Given the description of an element on the screen output the (x, y) to click on. 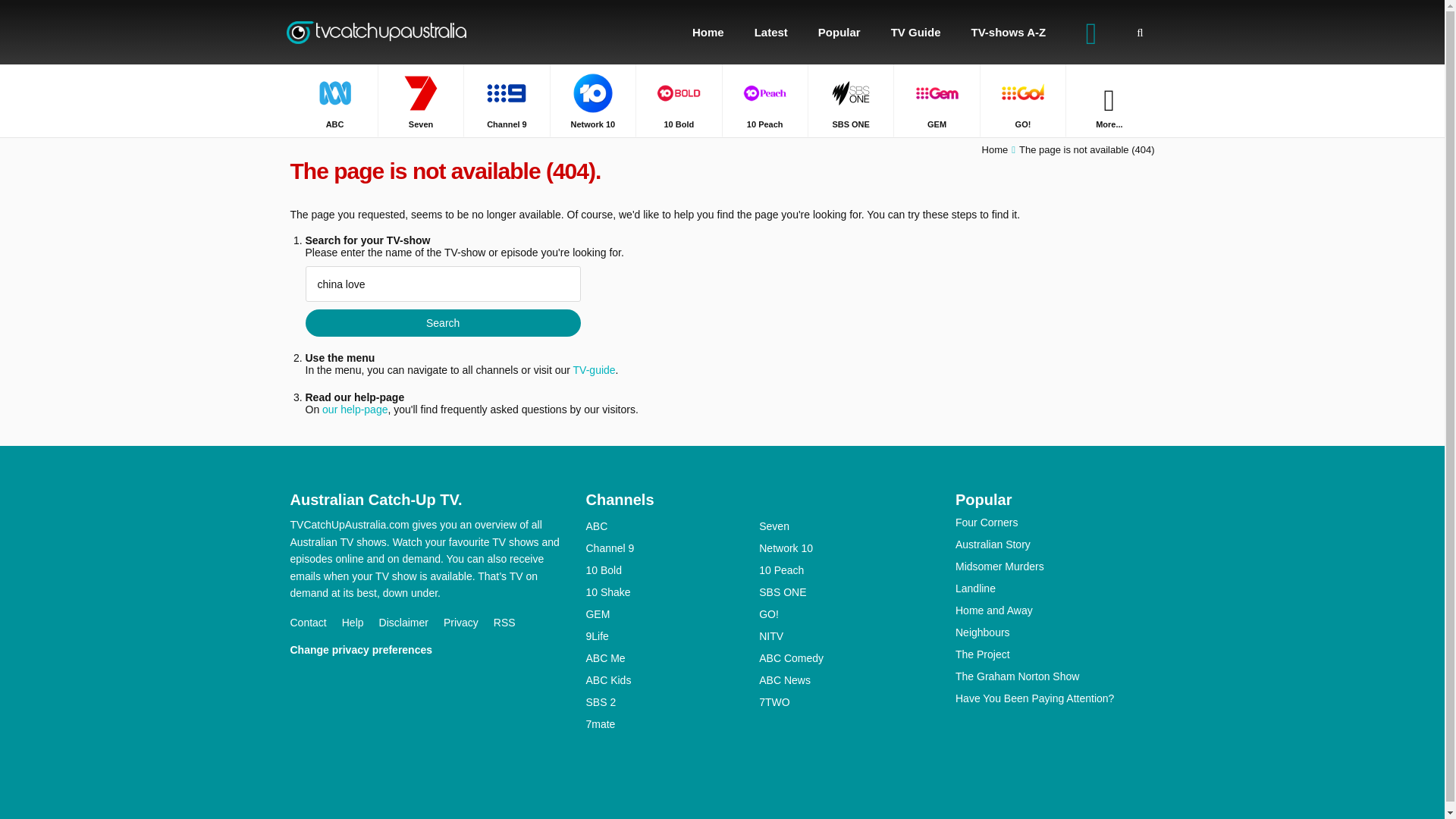
Latest (771, 32)
Network 10 (592, 100)
10 Peach (764, 100)
GO! (1022, 100)
Seven (420, 100)
Change privacy preferences (367, 649)
china love (441, 284)
More... (1108, 100)
10 Peach (764, 100)
our help-page (354, 409)
SBS ONE (850, 100)
ABC (671, 526)
Network 10 (592, 100)
10 Bold (678, 100)
